Given the description of an element on the screen output the (x, y) to click on. 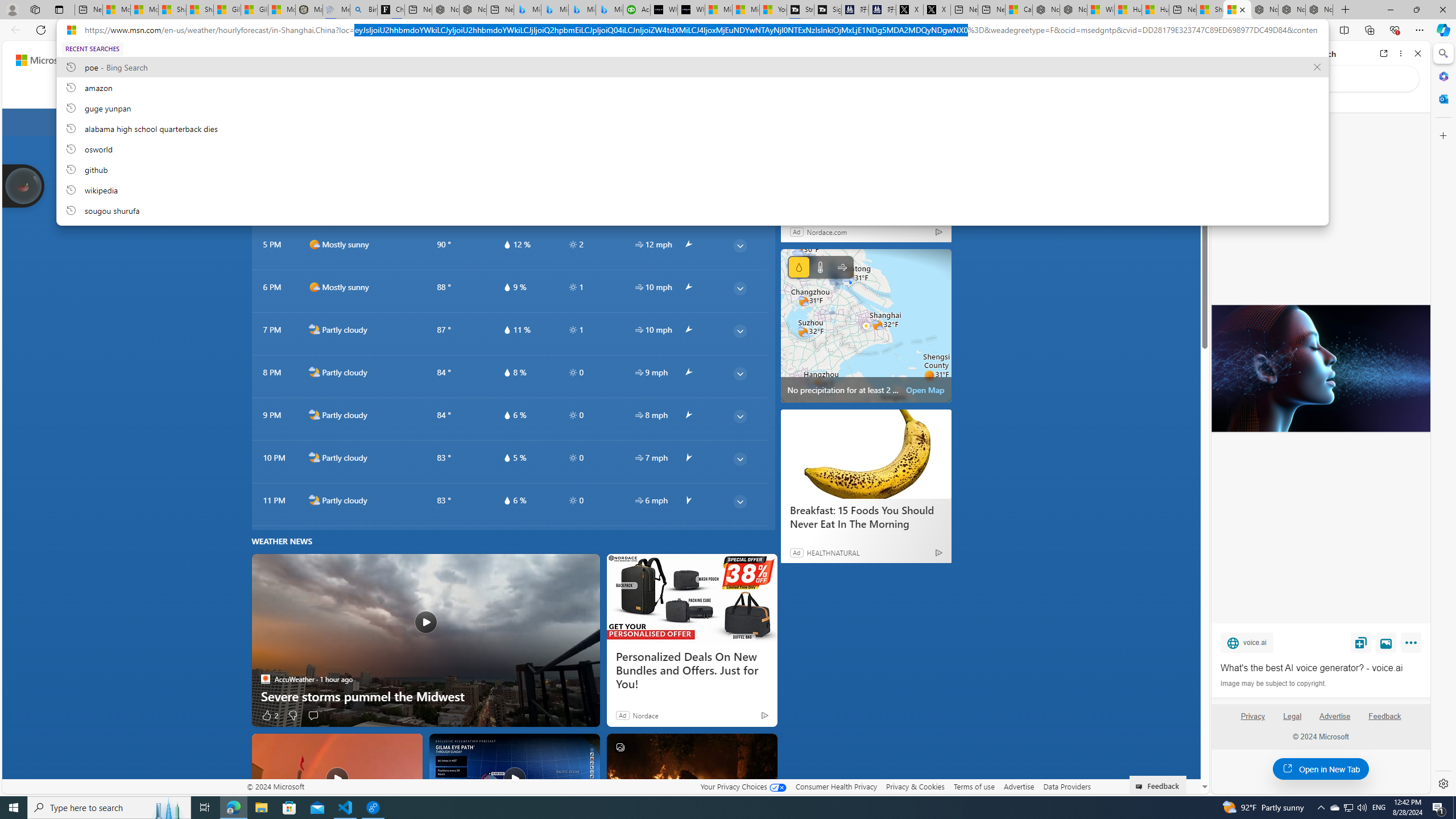
common/carouselChevron (912, 121)
Open Copilot (803, 59)
Chloe Sorvino (390, 9)
Hourly (381, 92)
Remove suggestion (1316, 66)
Advertise (1334, 720)
Nordace - #1 Japanese Best-Seller - Siena Smart Backpack (473, 9)
See more (763, 746)
Wind (842, 267)
To get missing image descriptions, open the context menu. (983, 92)
Microsoft 365 (1442, 76)
AccuWeather (265, 678)
Discover (197, 92)
